Given the description of an element on the screen output the (x, y) to click on. 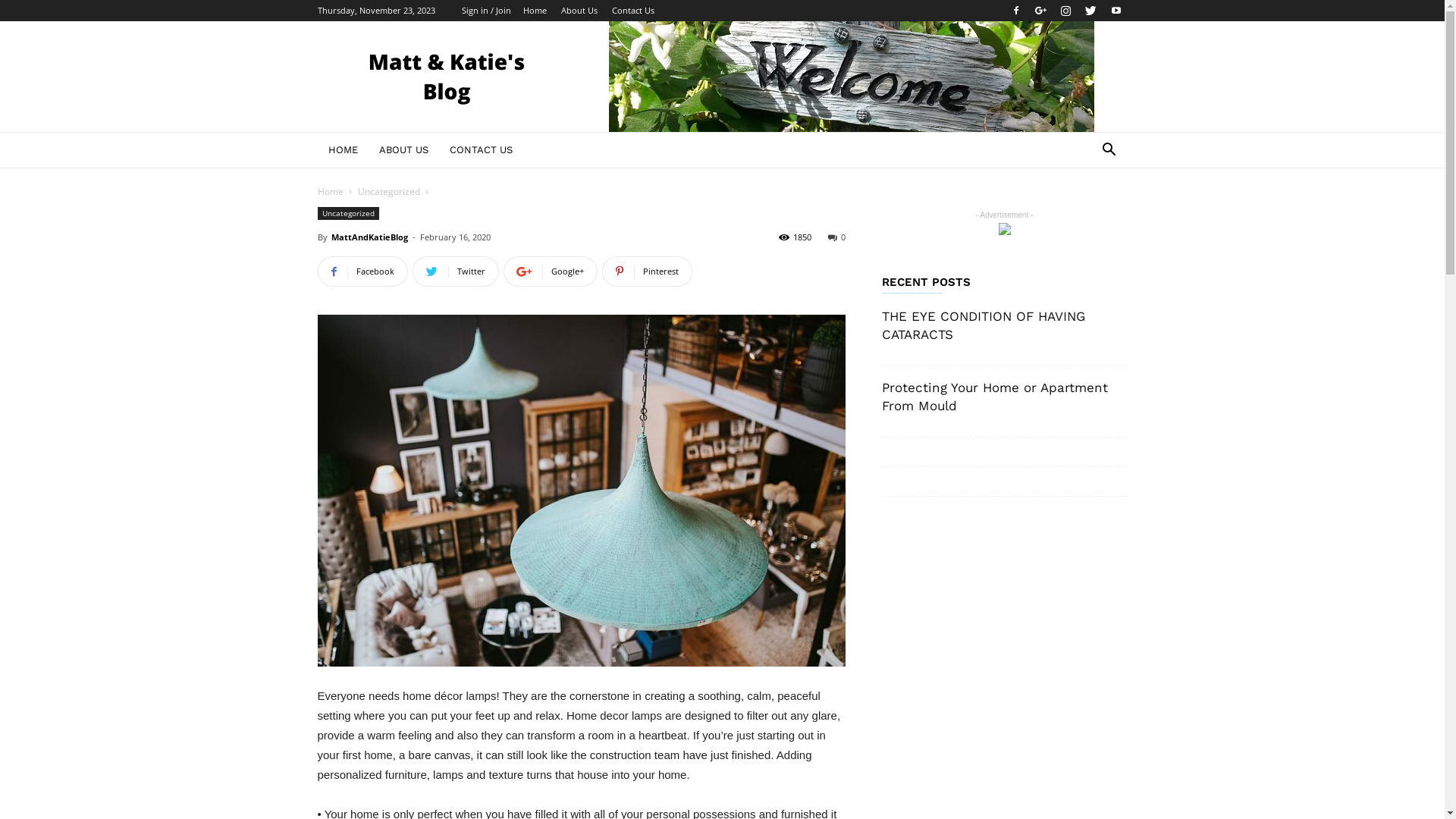
Home Element type: text (329, 191)
Uncategorized Element type: text (388, 191)
Uncategorized Element type: text (347, 213)
Twitter Element type: hover (1090, 10)
Home Element type: text (534, 9)
HOME Element type: text (341, 149)
Protecting Your Home or Apartment From Mould Element type: text (994, 396)
About Us Element type: text (579, 9)
MattAndKatieBlog Element type: text (368, 236)
Facebook Element type: text (361, 271)
Pinterest Element type: text (647, 271)
Facebook Element type: hover (1015, 10)
home decor electric lamp Element type: hover (580, 490)
Search Element type: text (1085, 210)
CONTACT US Element type: text (480, 149)
Instagram Element type: hover (1065, 10)
THE EYE CONDITION OF HAVING CATARACTS Element type: text (982, 325)
Google+ Element type: hover (1040, 10)
0 Element type: text (836, 236)
Contact Us Element type: text (632, 9)
Google+ Element type: text (550, 271)
ABOUT US Element type: text (403, 149)
Youtube Element type: hover (1115, 10)
Sign in / Join Element type: text (485, 9)
Twitter Element type: text (455, 271)
